Given the description of an element on the screen output the (x, y) to click on. 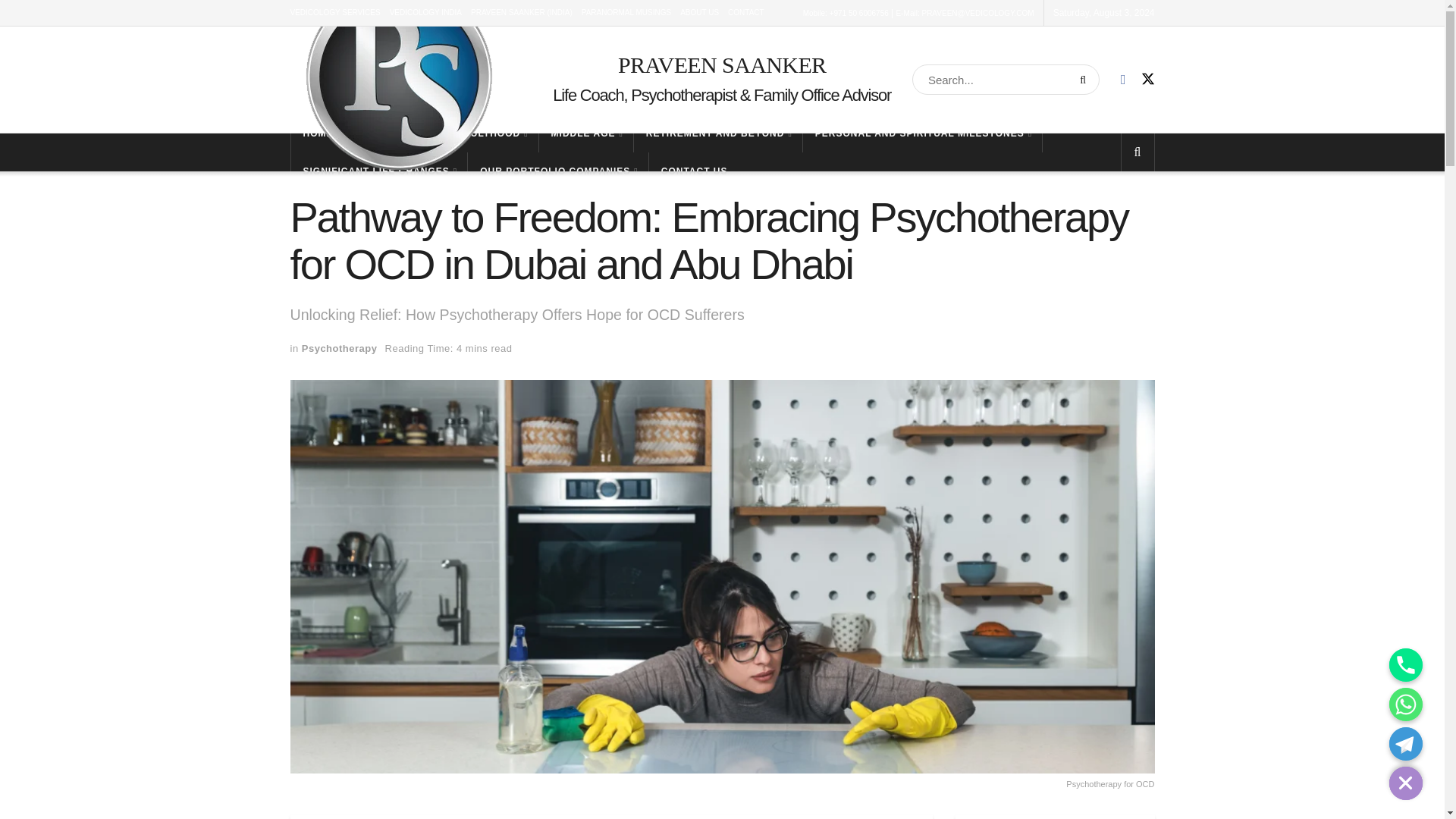
VEDICOLOGY INDIA (425, 12)
CONTACT (746, 12)
EARLY ADULTHOOD (472, 133)
ABOUT (376, 133)
PRAVEEN SAANKER (722, 64)
RETIREMENT AND BEYOND (717, 133)
HOME (318, 133)
VEDICOLOGY SERVICES (334, 12)
ABOUT US (699, 12)
PARANORMAL MUSINGS (625, 12)
